Given the description of an element on the screen output the (x, y) to click on. 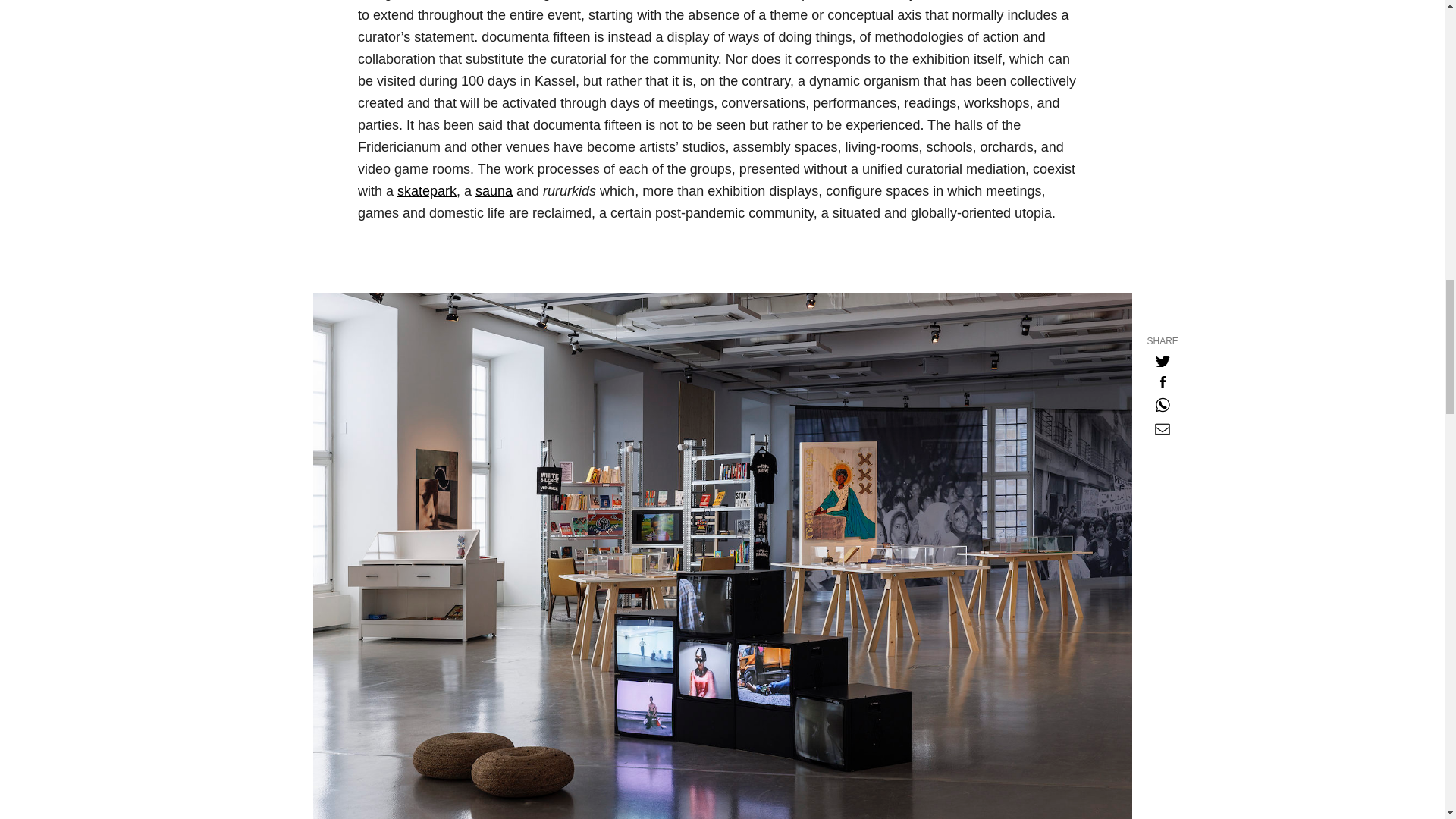
sauna (494, 191)
skatepark (427, 191)
